Given the description of an element on the screen output the (x, y) to click on. 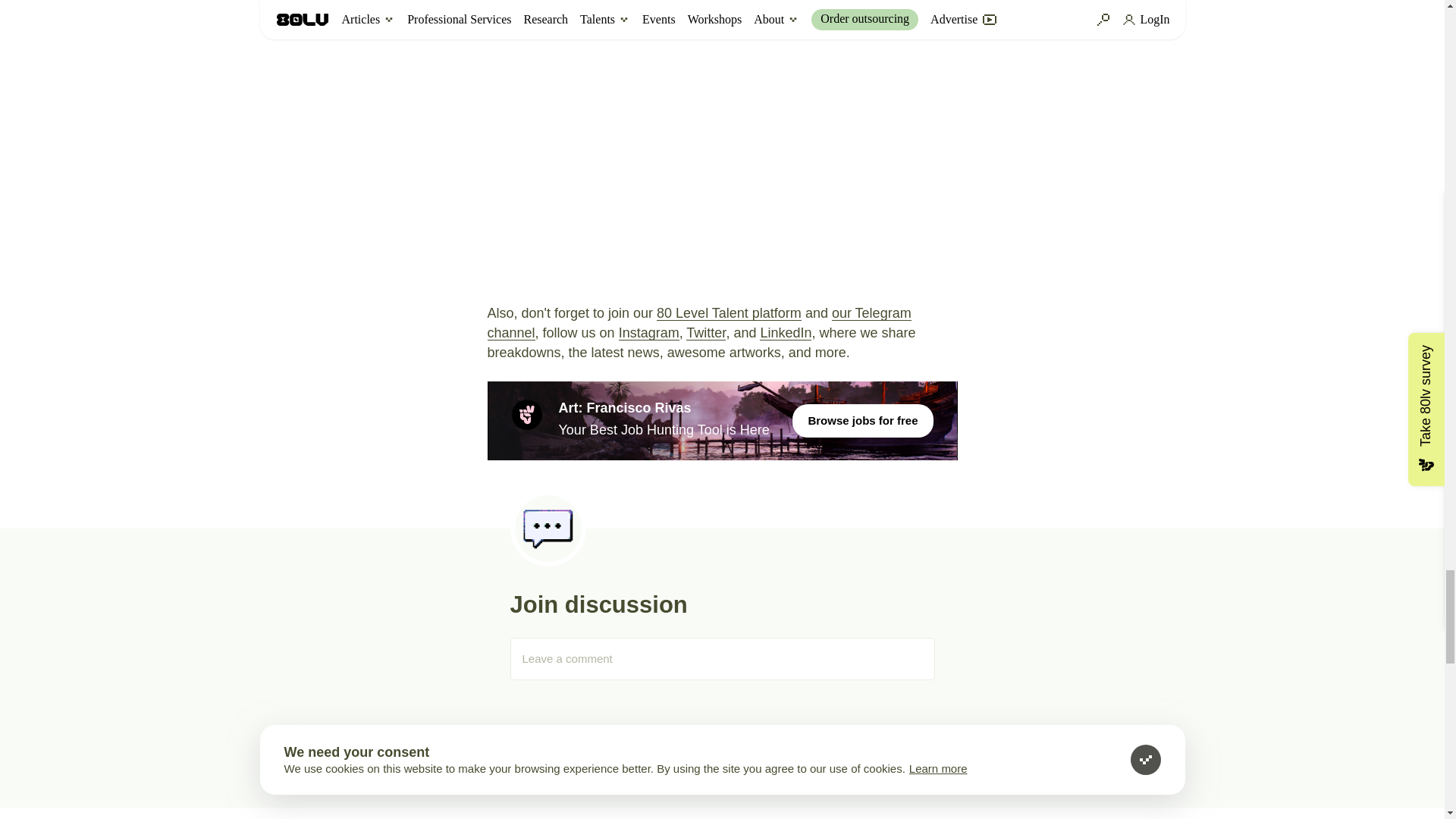
Instagram (648, 332)
LinkedIn (785, 332)
Browse jobs for free (862, 420)
our Telegram channel (698, 322)
80 Level Talent platform (729, 313)
Twitter (705, 332)
